Given the description of an element on the screen output the (x, y) to click on. 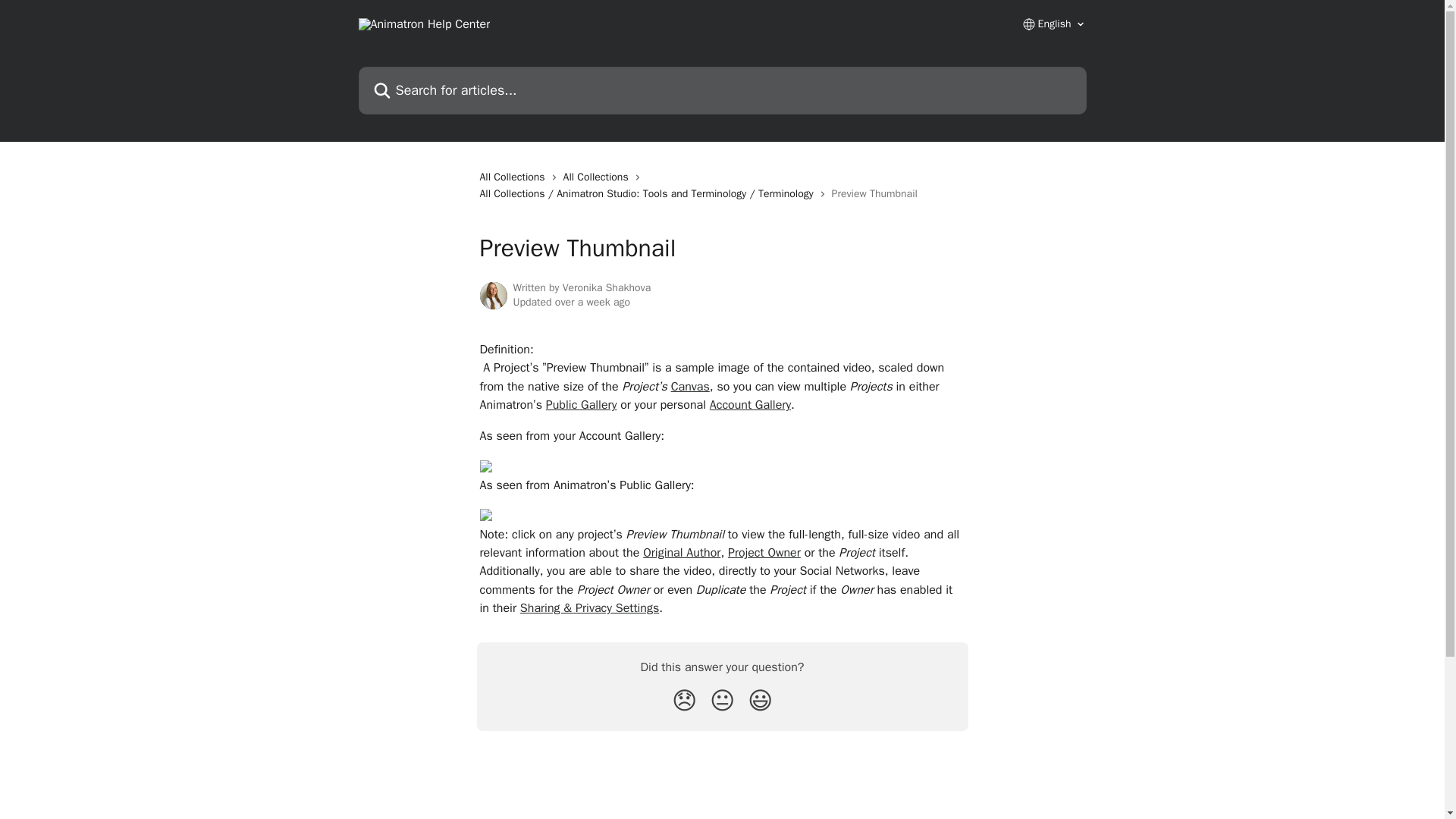
Canvas (690, 386)
Project Owner (764, 552)
Public Gallery (581, 404)
Account Gallery (750, 404)
Original Author (681, 552)
All Collections (514, 176)
All Collections (598, 176)
